Given the description of an element on the screen output the (x, y) to click on. 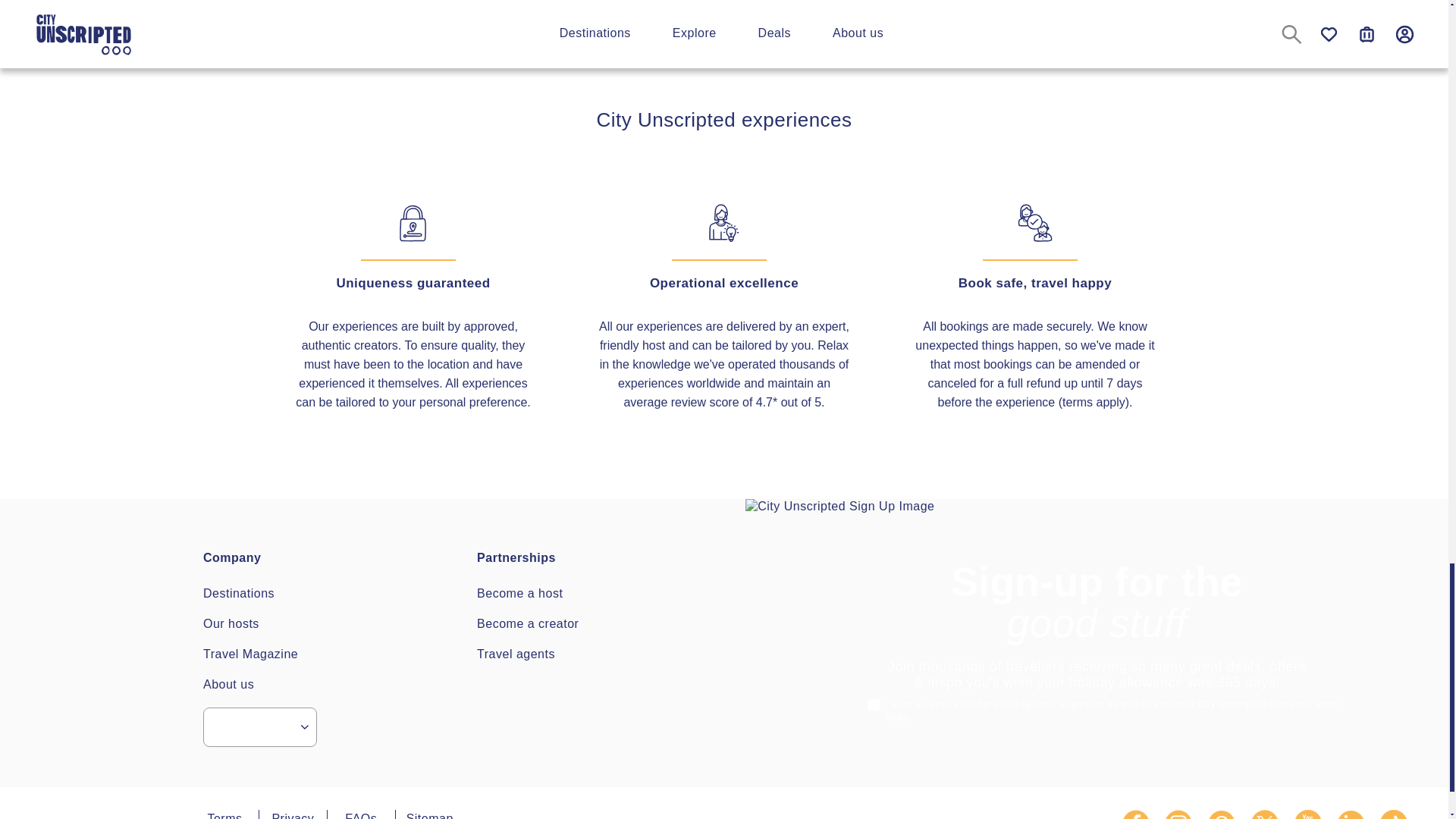
Destinations (239, 593)
About us (228, 684)
Travel Magazine (250, 653)
Our hosts (231, 623)
Travel agents (515, 653)
Become a creator (527, 623)
Become a host (519, 593)
